Given the description of an element on the screen output the (x, y) to click on. 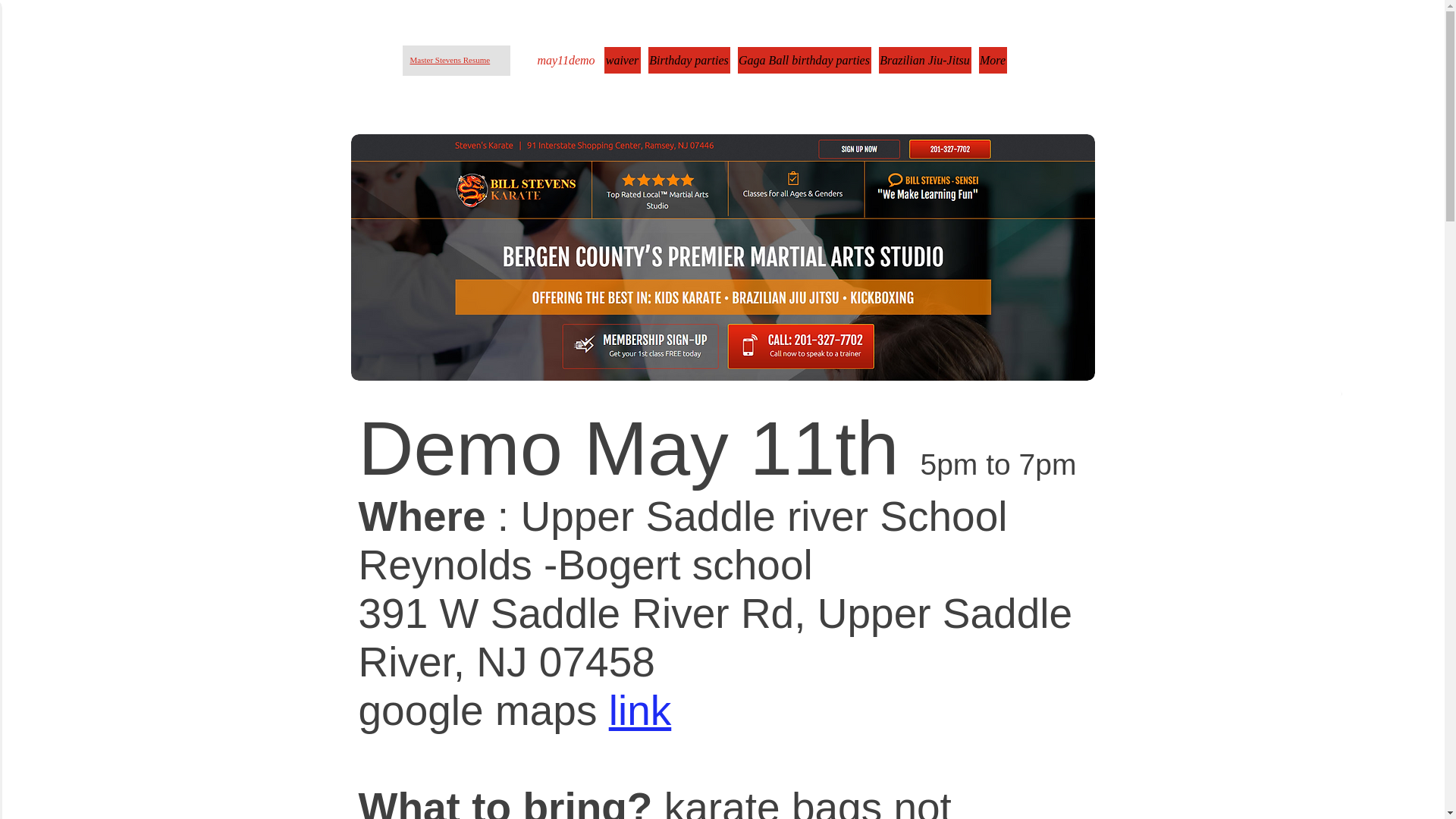
Gaga Ball birthday parties (803, 59)
link (639, 710)
Master Stevens Resume (449, 59)
Birthday parties (688, 59)
may11demo (565, 59)
Brazilian Jiu-Jitsu (924, 59)
waiver (622, 59)
